Given the description of an element on the screen output the (x, y) to click on. 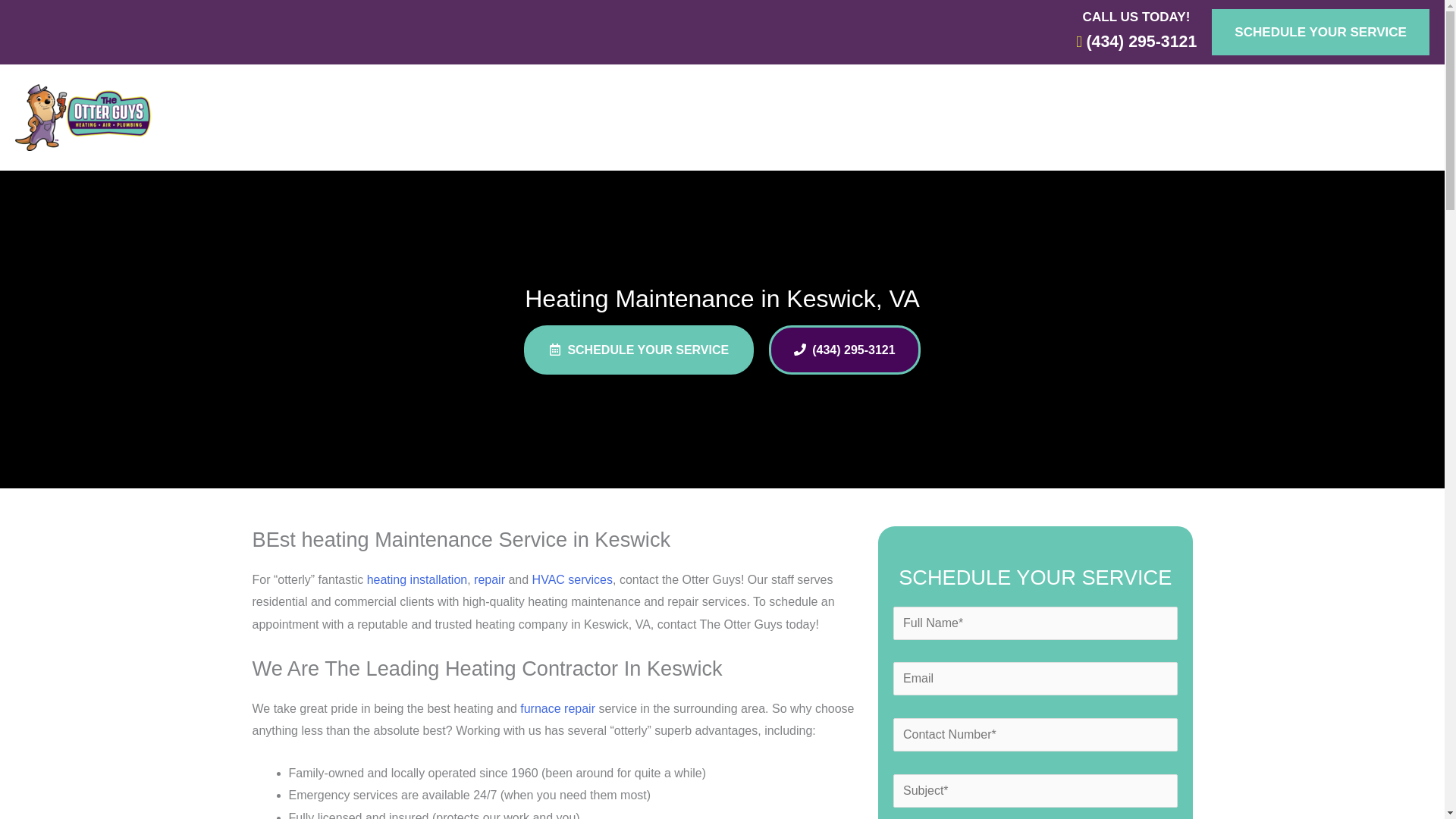
BUY FILTERS (748, 117)
PLUMBING (639, 117)
CONTACT US (954, 117)
SCHEDULE YOUR SERVICE (1320, 32)
SERVICES (1071, 117)
ABOUT (846, 117)
HOME (347, 117)
COOLING (531, 117)
HEATING (428, 117)
